Given the description of an element on the screen output the (x, y) to click on. 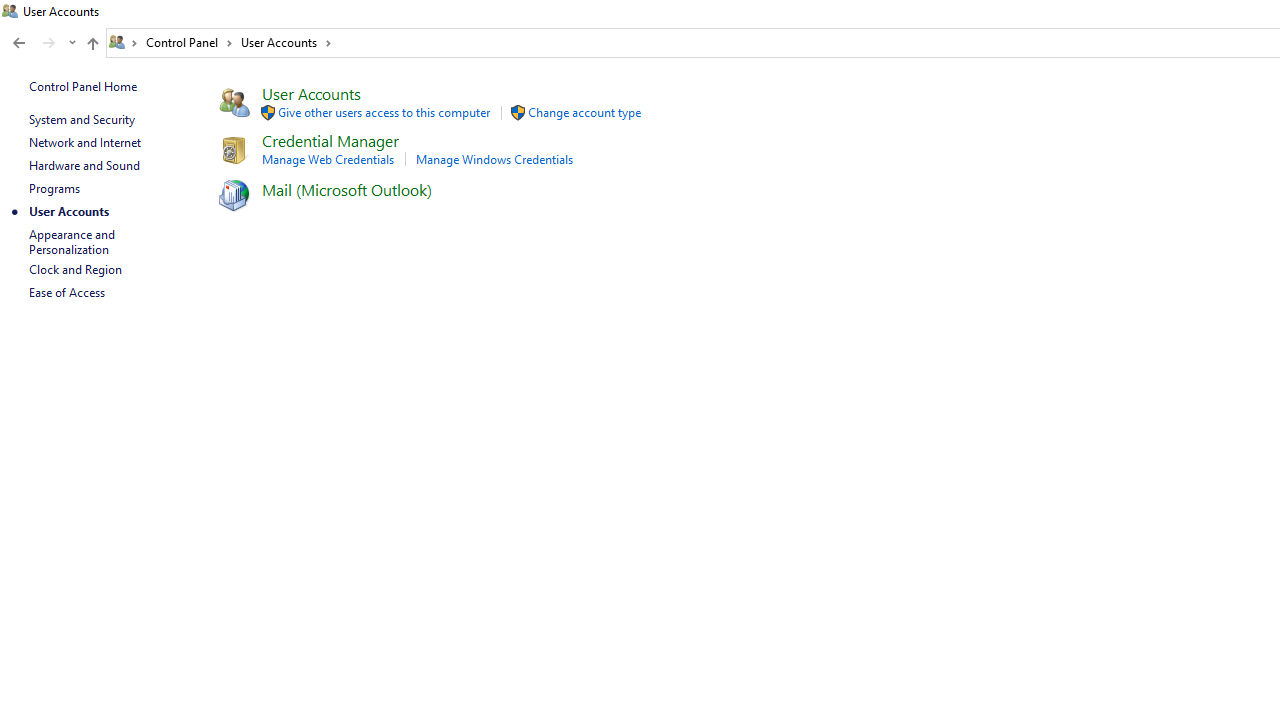
Credential Manager (329, 140)
Icon (232, 194)
System (10, 11)
Recent locations (71, 43)
All locations (124, 42)
Control Panel Home (82, 86)
Appearance and Personalization (73, 241)
Ease of Access (66, 292)
Manage Windows Credentials (493, 159)
Clock and Region (75, 269)
Back to Programs (Alt + Left Arrow) (18, 43)
Mail (Microsoft Outlook) (346, 189)
Icon (517, 112)
